Given the description of an element on the screen output the (x, y) to click on. 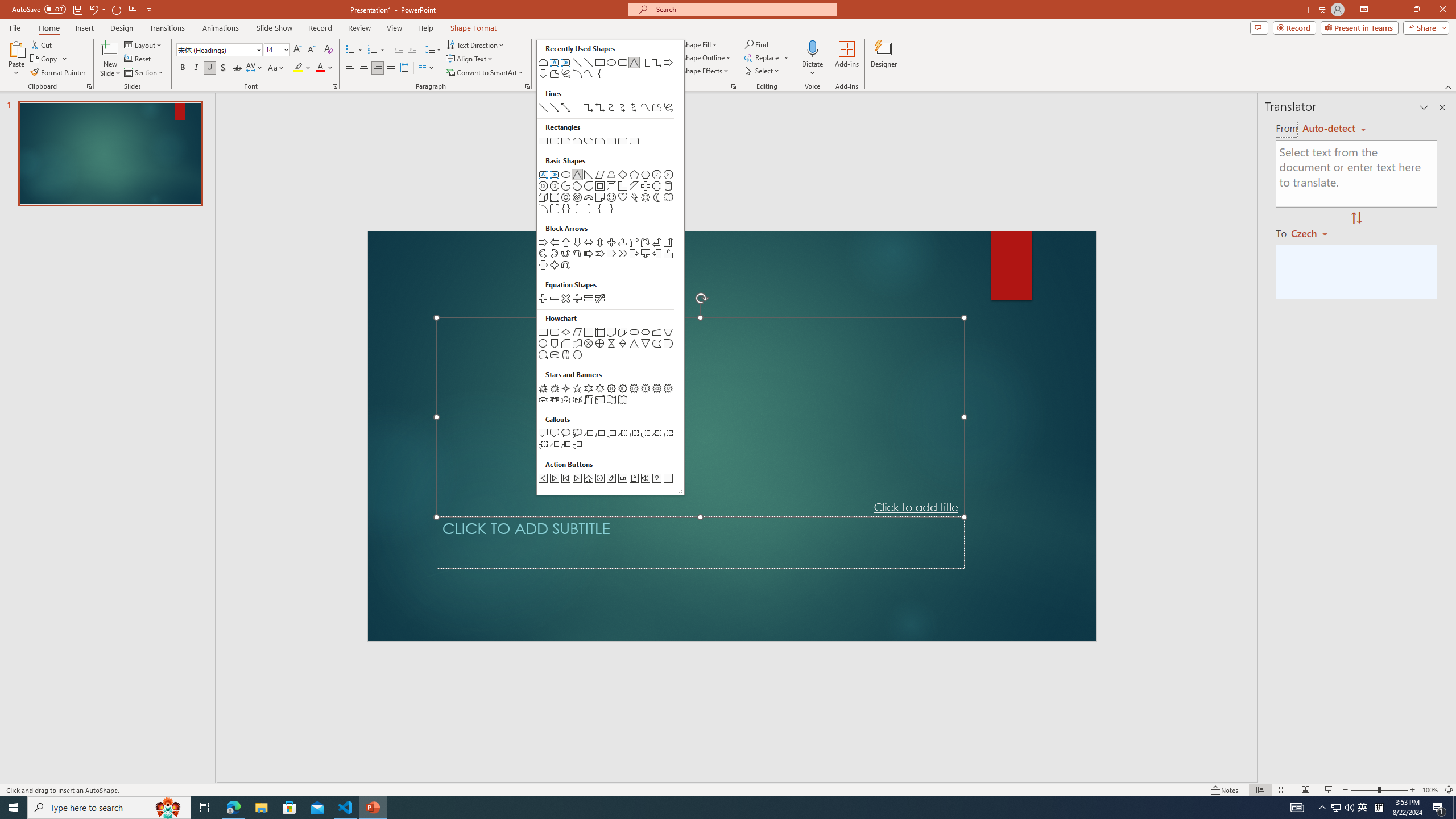
Increase Indent (412, 49)
Align Text (470, 58)
Strikethrough (237, 67)
Reset (138, 58)
Align Right (377, 67)
Section (144, 72)
Convert to SmartArt (485, 72)
